Given the description of an element on the screen output the (x, y) to click on. 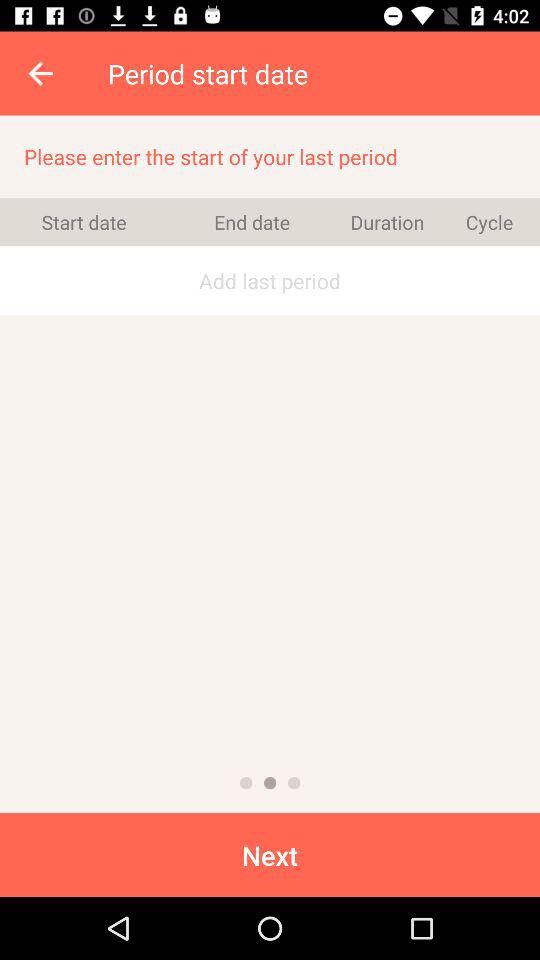
jump until the next (270, 854)
